Given the description of an element on the screen output the (x, y) to click on. 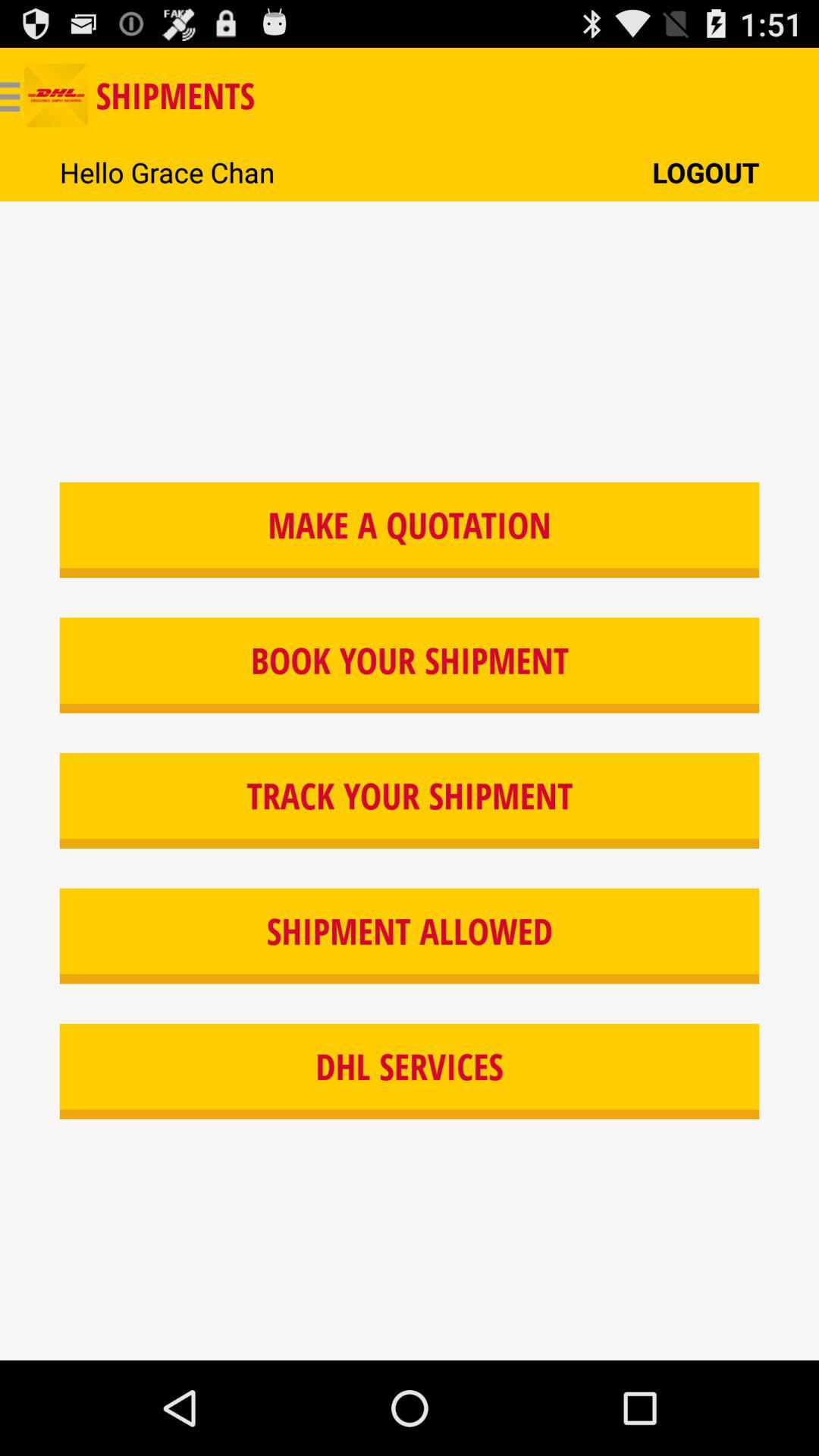
scroll to shipment allowed icon (409, 935)
